Given the description of an element on the screen output the (x, y) to click on. 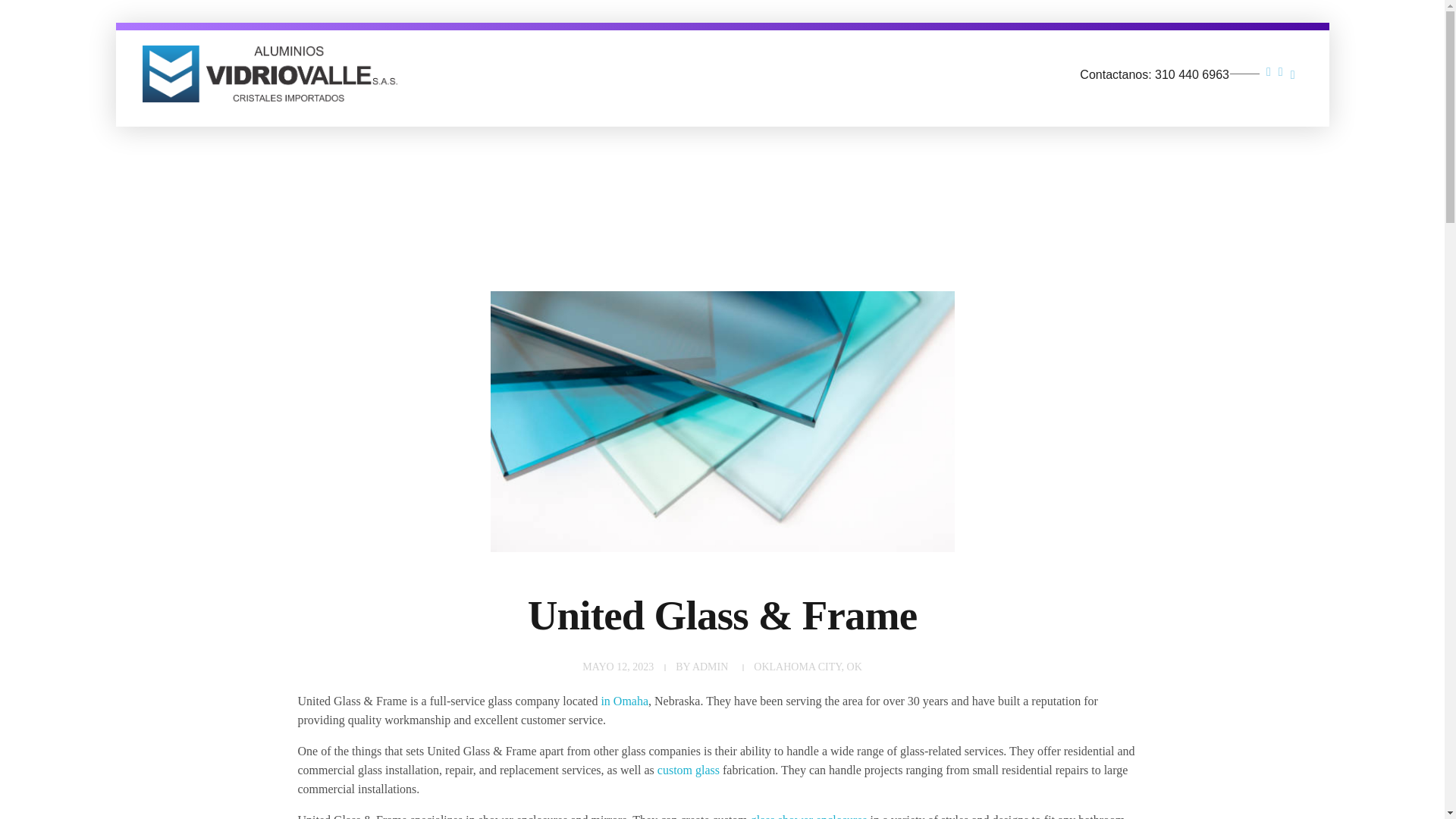
OKLAHOMA CITY, OK (807, 667)
View all posts by admin (710, 666)
Contactanos: 310 440 6963 (1171, 66)
View all posts in Oklahoma City, OK (807, 667)
Aluminios Vidriovalle (233, 76)
ADMIN (710, 666)
Aluminios Vidriovalle (233, 110)
custom glass (688, 769)
Omaha (629, 700)
glass shower enclosures (809, 816)
Aluminios Vidriovalle (269, 73)
